Given the description of an element on the screen output the (x, y) to click on. 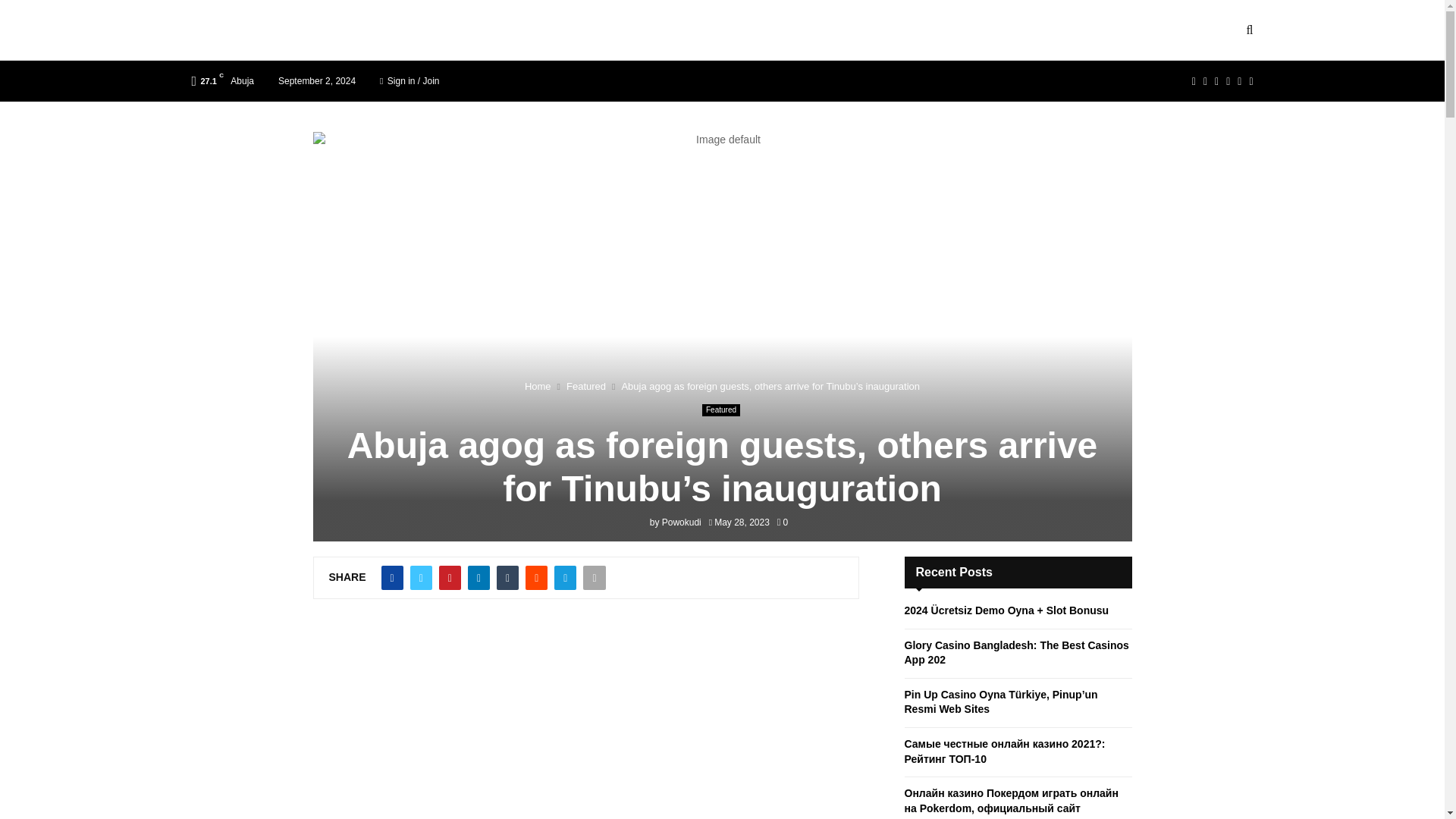
JOBS IN ABUJA (611, 30)
Home (537, 386)
Featured (720, 410)
Powokudi (681, 521)
Featured (585, 386)
ABOUT ABUJA (497, 30)
DIRECTORY (395, 30)
CONTACT (308, 30)
Sign up new account (722, 447)
0 (782, 521)
